Given the description of an element on the screen output the (x, y) to click on. 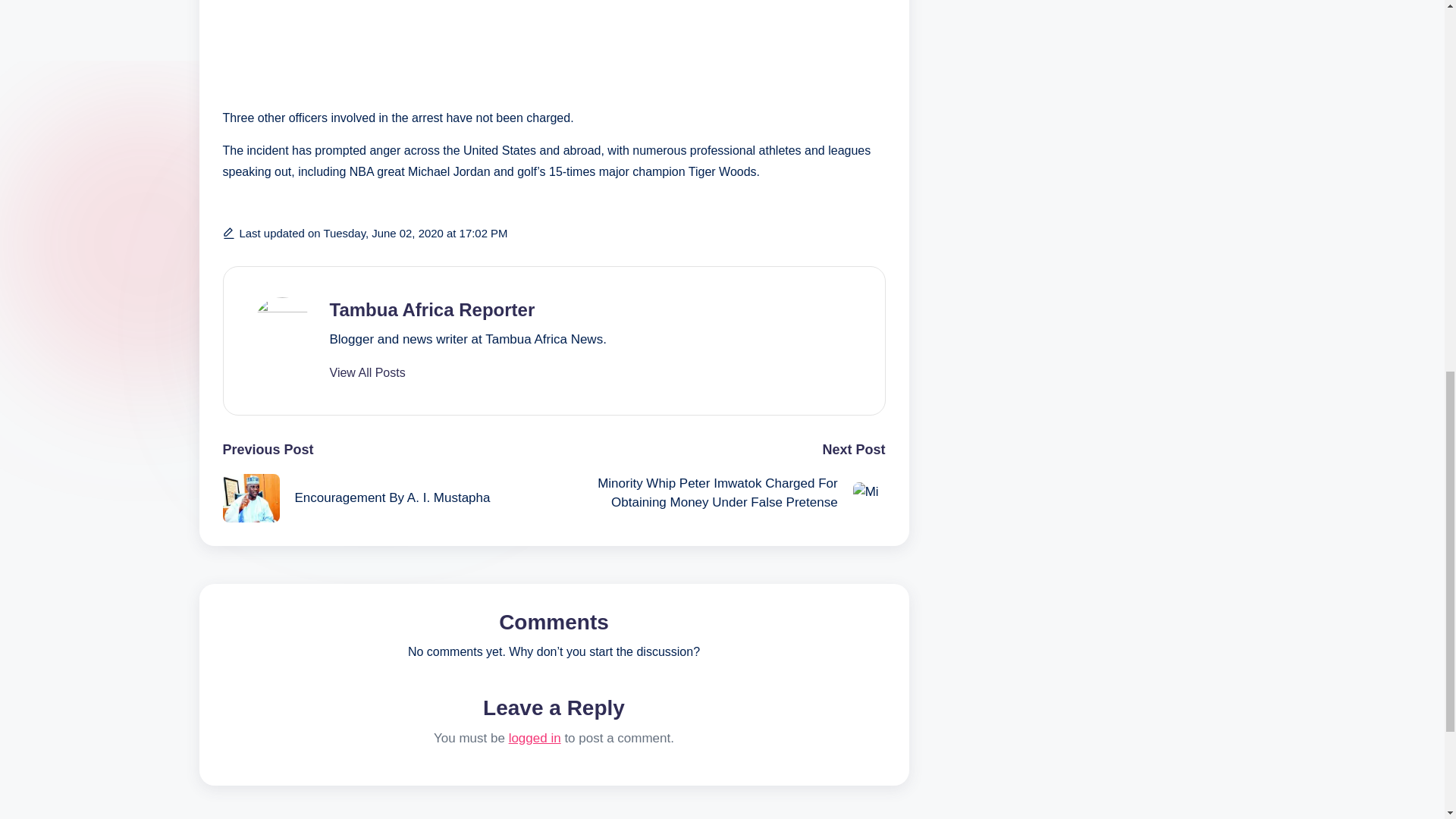
logged in (534, 738)
Tambua Africa Reporter (431, 309)
View All Posts (366, 373)
Encouragement By A. I. Mustapha (388, 498)
Advertisement (553, 48)
